Given the description of an element on the screen output the (x, y) to click on. 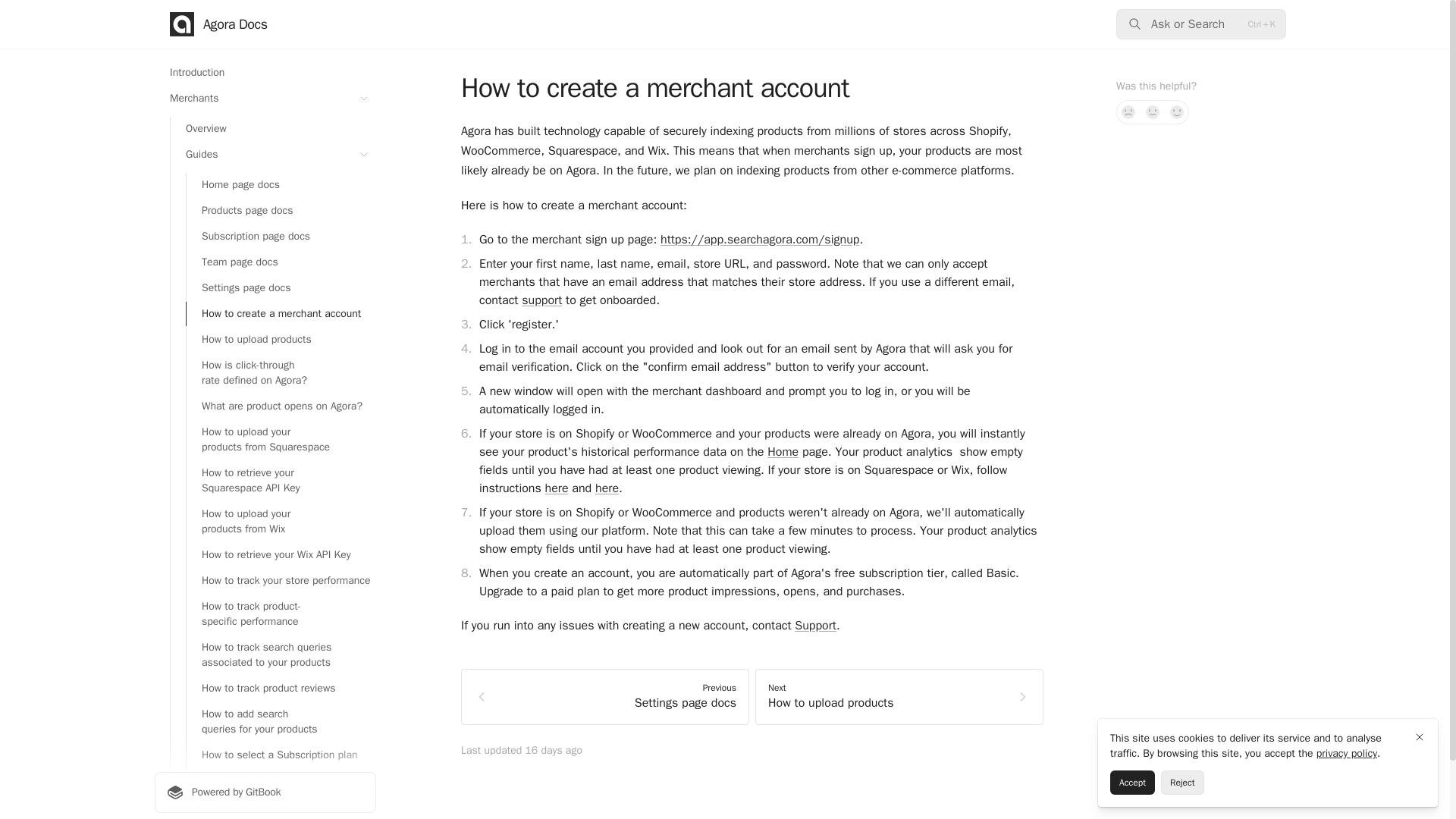
Not sure (1152, 111)
How to track product reviews (280, 688)
Guides (272, 154)
How to track search queries associated to your products (280, 654)
How to upload your products from Squarespace (280, 439)
How to track product-specific performance (280, 613)
Yes, it was! (1176, 111)
Products page docs (280, 210)
Why upgrade to a Subscription plan (280, 781)
How to track your store performance (280, 580)
Team page docs (280, 262)
How to select a Subscription plan (280, 754)
Overview (272, 128)
How to add search queries for your products (280, 721)
How is Agora different from Google advertising? (280, 806)
